Given the description of an element on the screen output the (x, y) to click on. 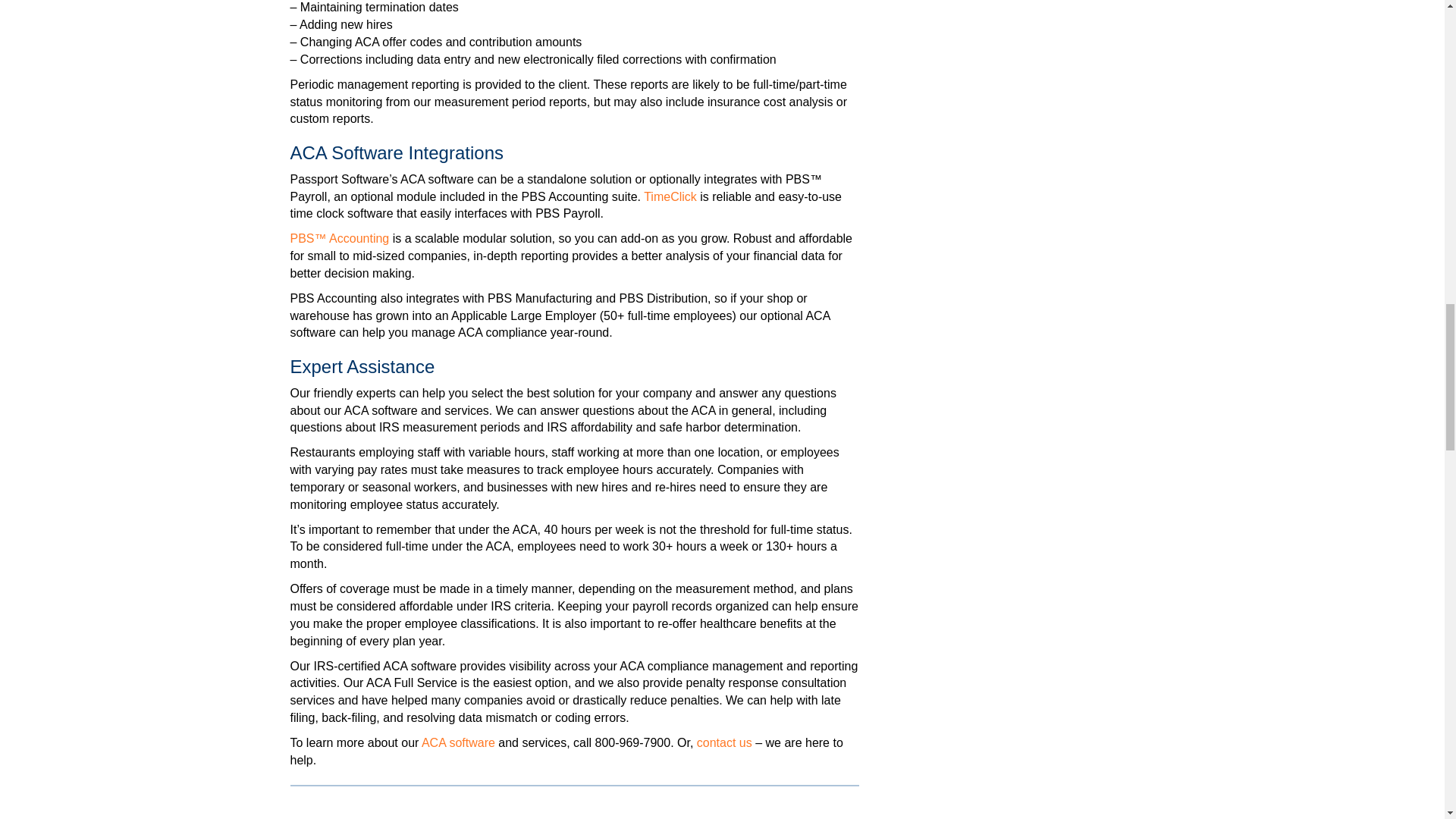
TimeClick (670, 196)
